Given the description of an element on the screen output the (x, y) to click on. 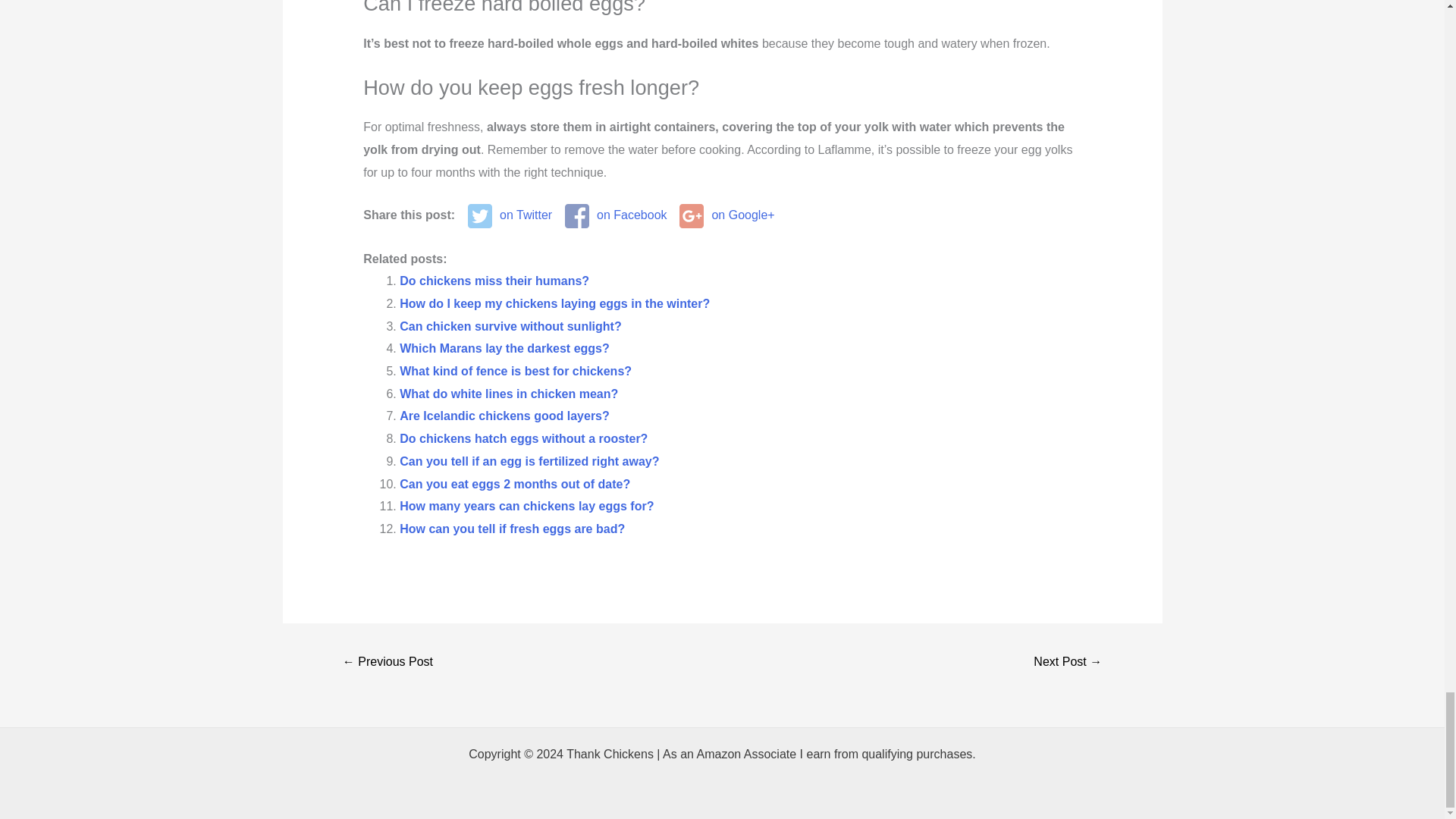
Do chickens hatch eggs without a rooster? (522, 438)
Can you eat eggs 2 months out of date? (514, 483)
Can chicken survive without sunlight? (509, 326)
Which Marans lay the darkest eggs? (504, 348)
on Facebook (615, 215)
How can you tell if fresh eggs are bad? (511, 528)
How do I keep my chickens laying eggs in the winter? (554, 303)
Do chickens miss their humans? (493, 280)
Can chicken survive without sunlight? (509, 326)
What do white lines in chicken mean? (507, 393)
